Given the description of an element on the screen output the (x, y) to click on. 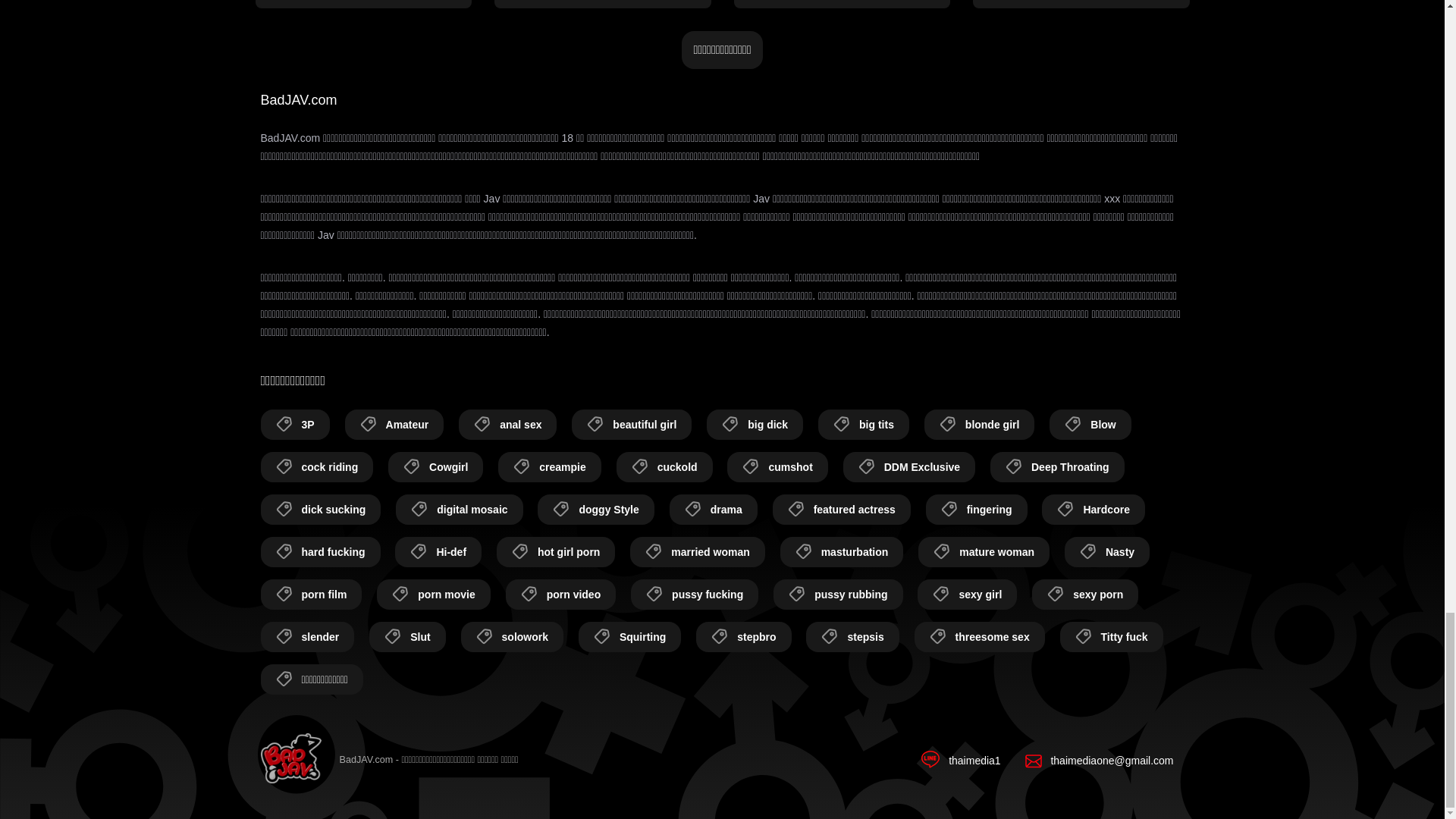
blonde girl (979, 424)
cock riding (317, 467)
Badjav.com (290, 759)
anal sex (507, 424)
beautiful girl (631, 424)
Amateur (394, 424)
3P (295, 424)
Cowgirl (435, 467)
Blow (1090, 424)
big dick (754, 424)
big tits (863, 424)
